Given the description of an element on the screen output the (x, y) to click on. 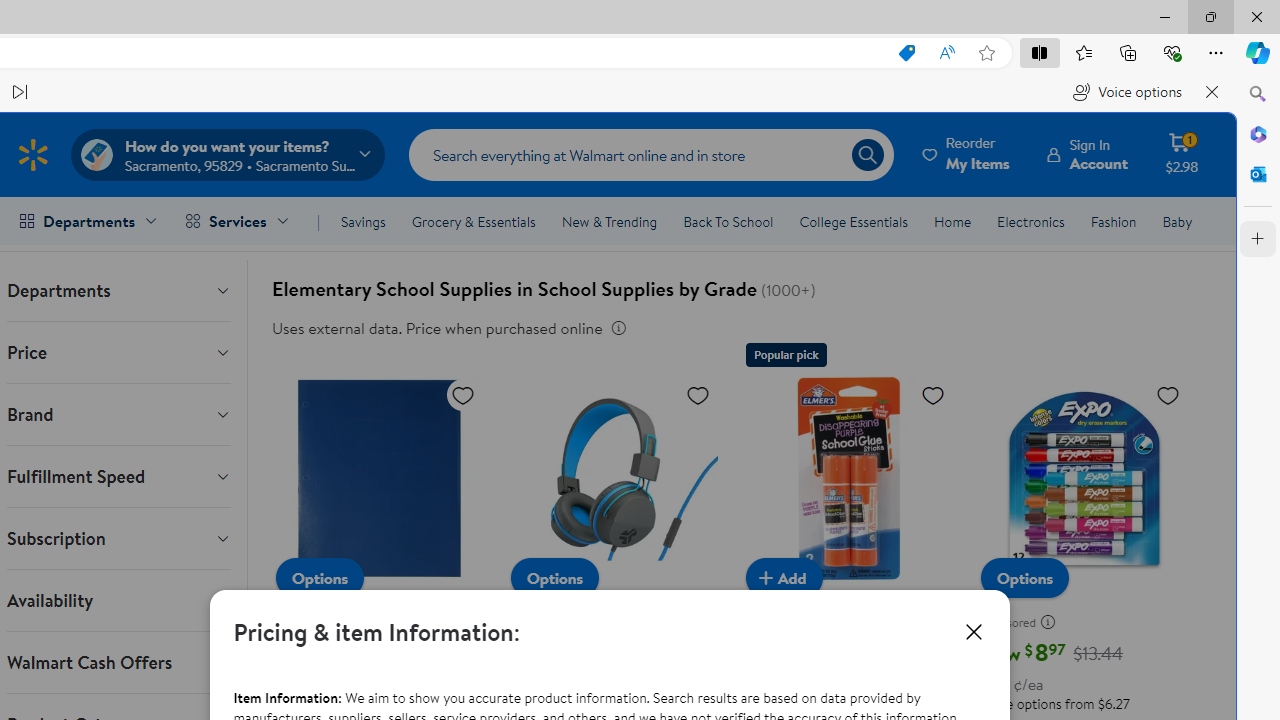
This site has coupons! Shopping in Microsoft Edge, 7 (906, 53)
Voice options (1127, 92)
